Given the description of an element on the screen output the (x, y) to click on. 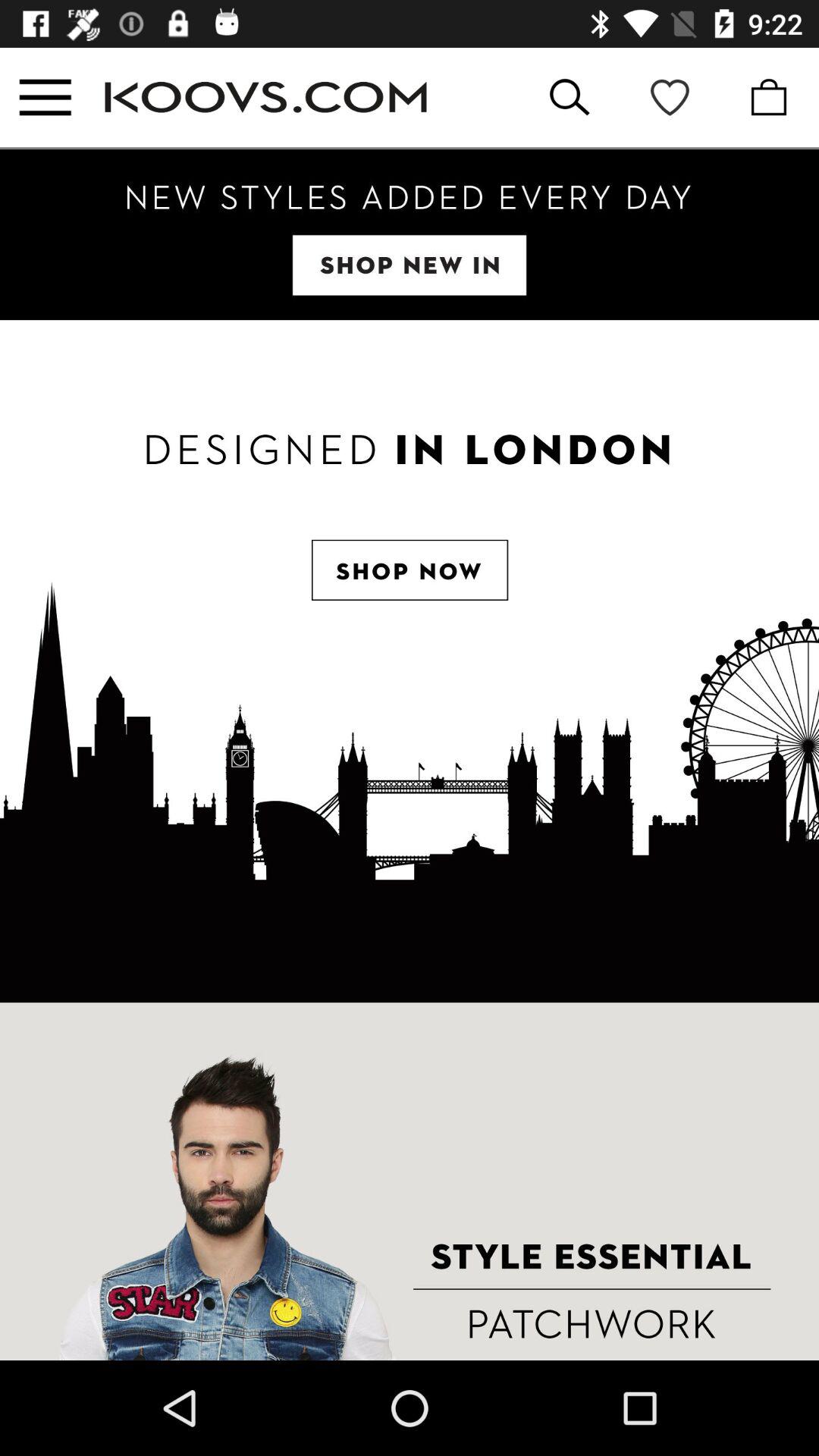
open shop (409, 661)
